Given the description of an element on the screen output the (x, y) to click on. 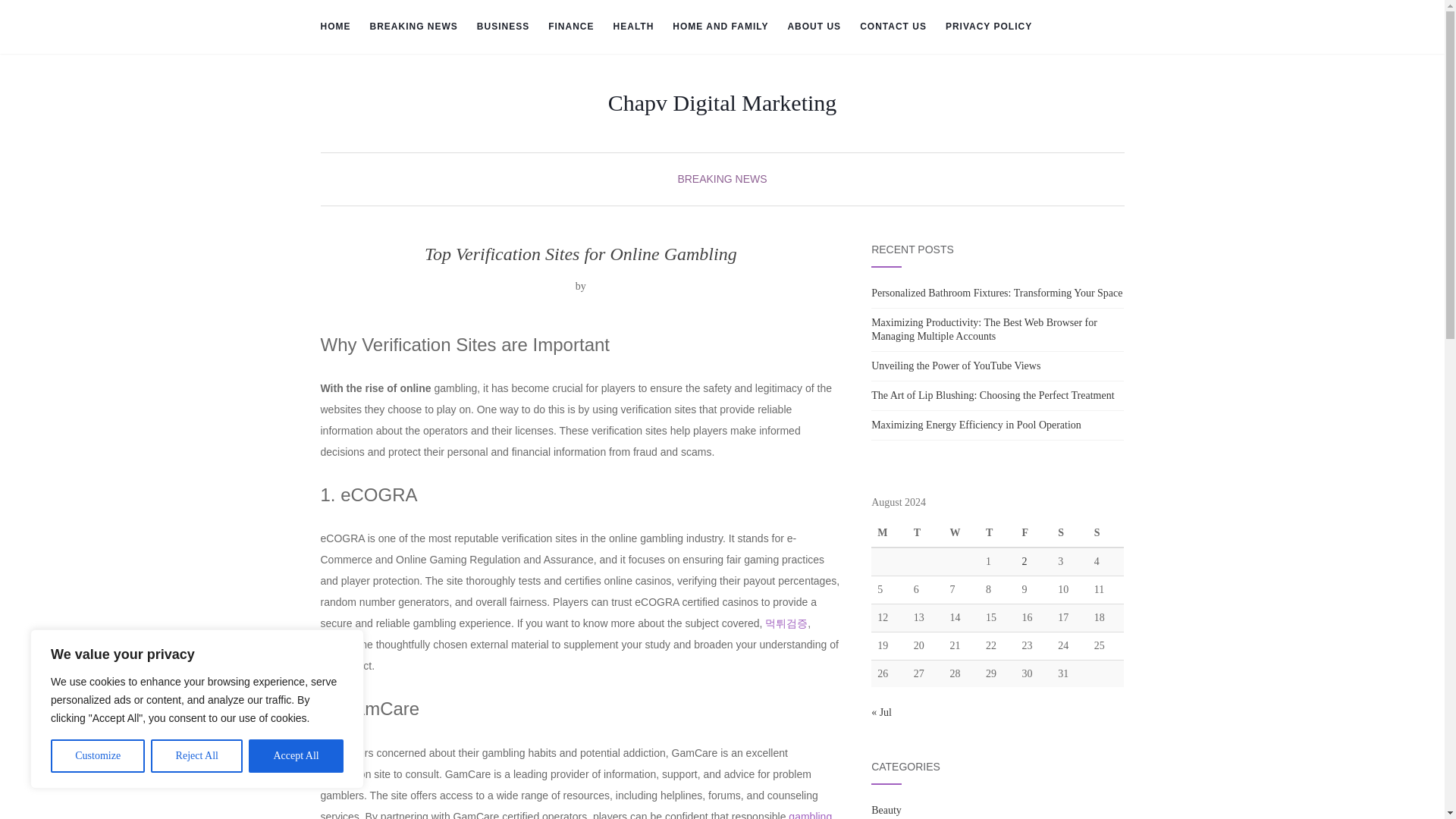
Thursday (997, 533)
Customize (97, 756)
ABOUT US (814, 27)
Chapv Digital Marketing (722, 102)
Unveiling the Power of YouTube Views (955, 365)
Reject All (197, 756)
Breaking News (413, 27)
Chapv Digital Marketing (722, 102)
Home and Family (720, 27)
Monday (888, 533)
Business (503, 27)
gambling practices (575, 814)
Tuesday (925, 533)
CONTACT US (893, 27)
